Given the description of an element on the screen output the (x, y) to click on. 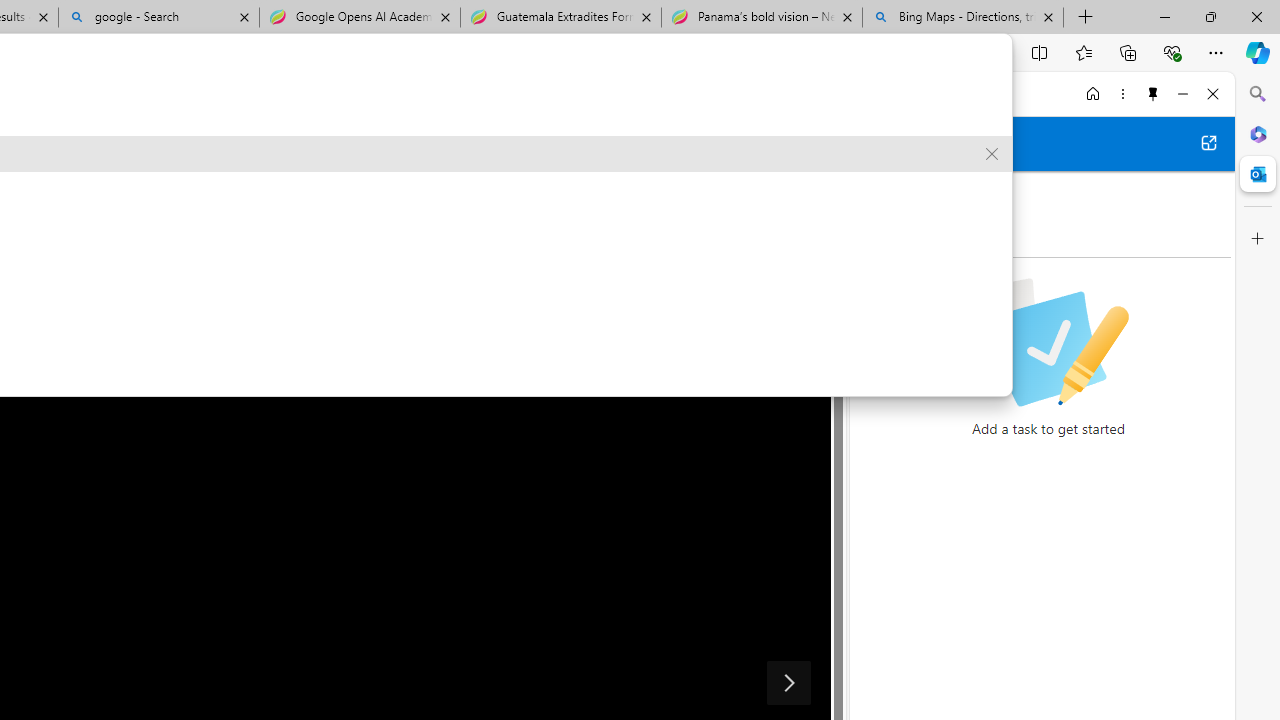
Remove suggestion (991, 153)
My Day (893, 191)
Add a task (1065, 235)
